Given the description of an element on the screen output the (x, y) to click on. 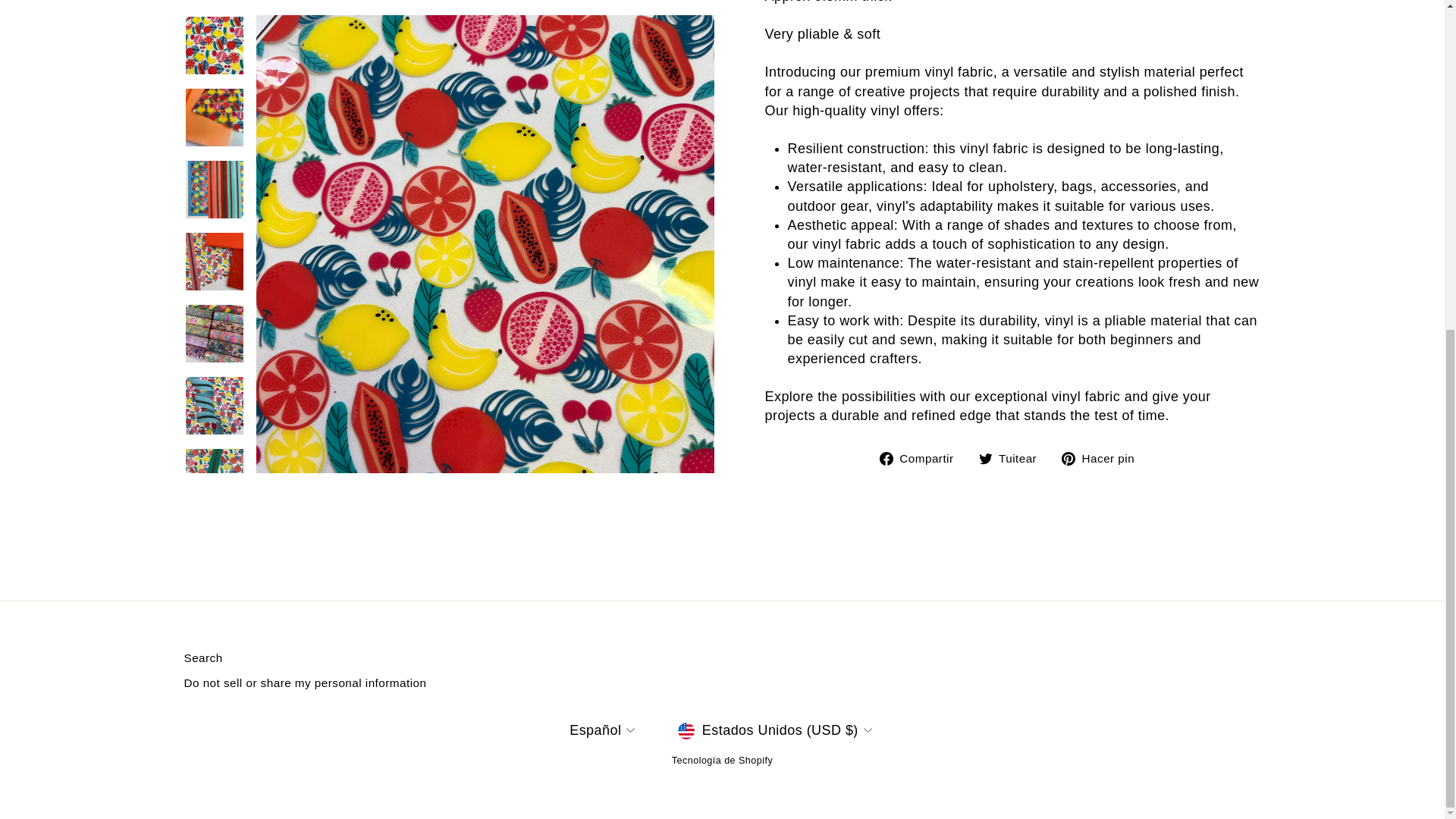
Tuitear en Twitter (1013, 457)
Compartir en Facebook (922, 457)
twitter (984, 459)
Pinear en Pinterest (1103, 457)
